Given the description of an element on the screen output the (x, y) to click on. 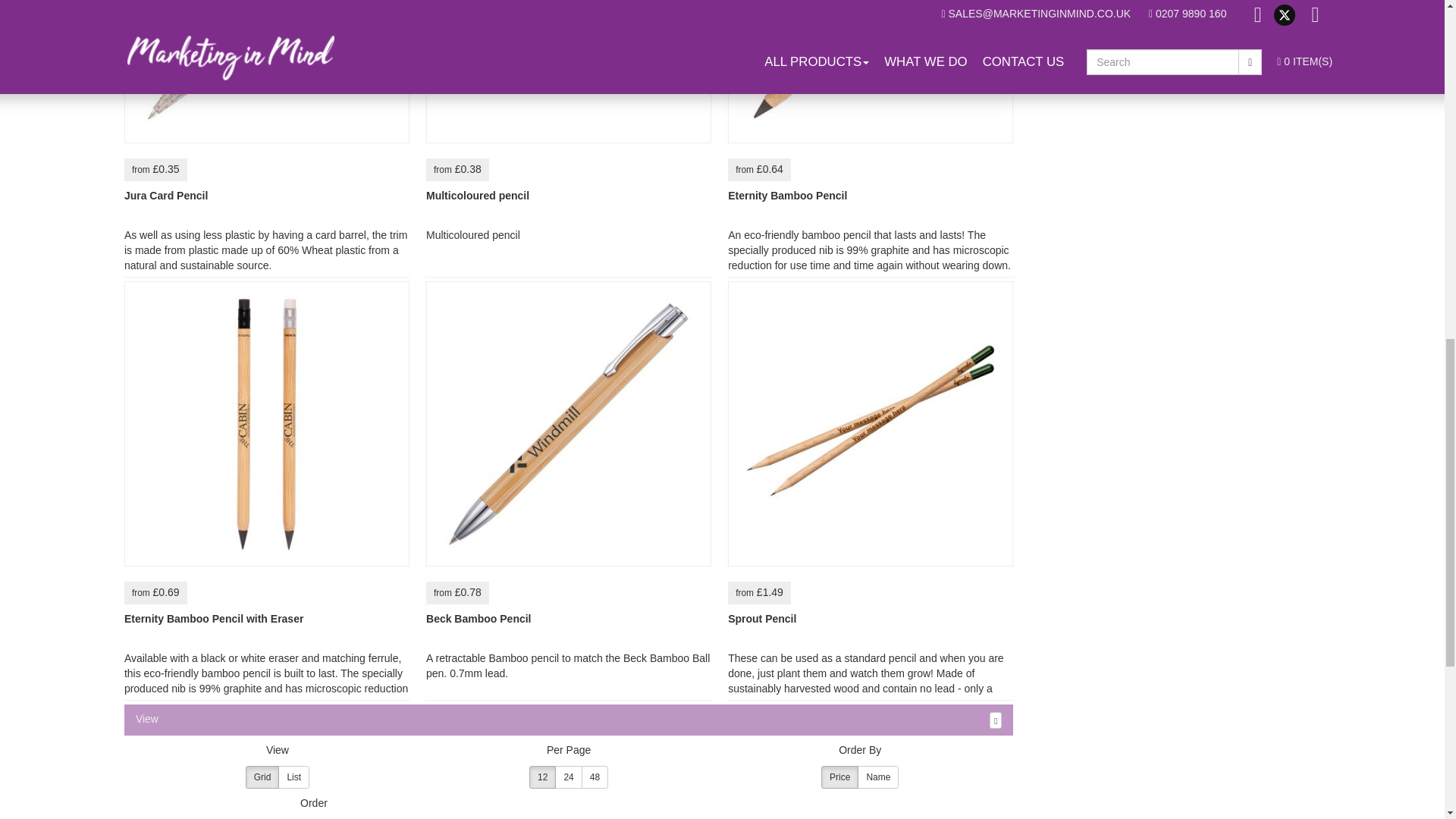
Order by Grid (262, 776)
Arrange by Price (840, 776)
Arrange by Name (877, 776)
Order by List (293, 776)
